Given the description of an element on the screen output the (x, y) to click on. 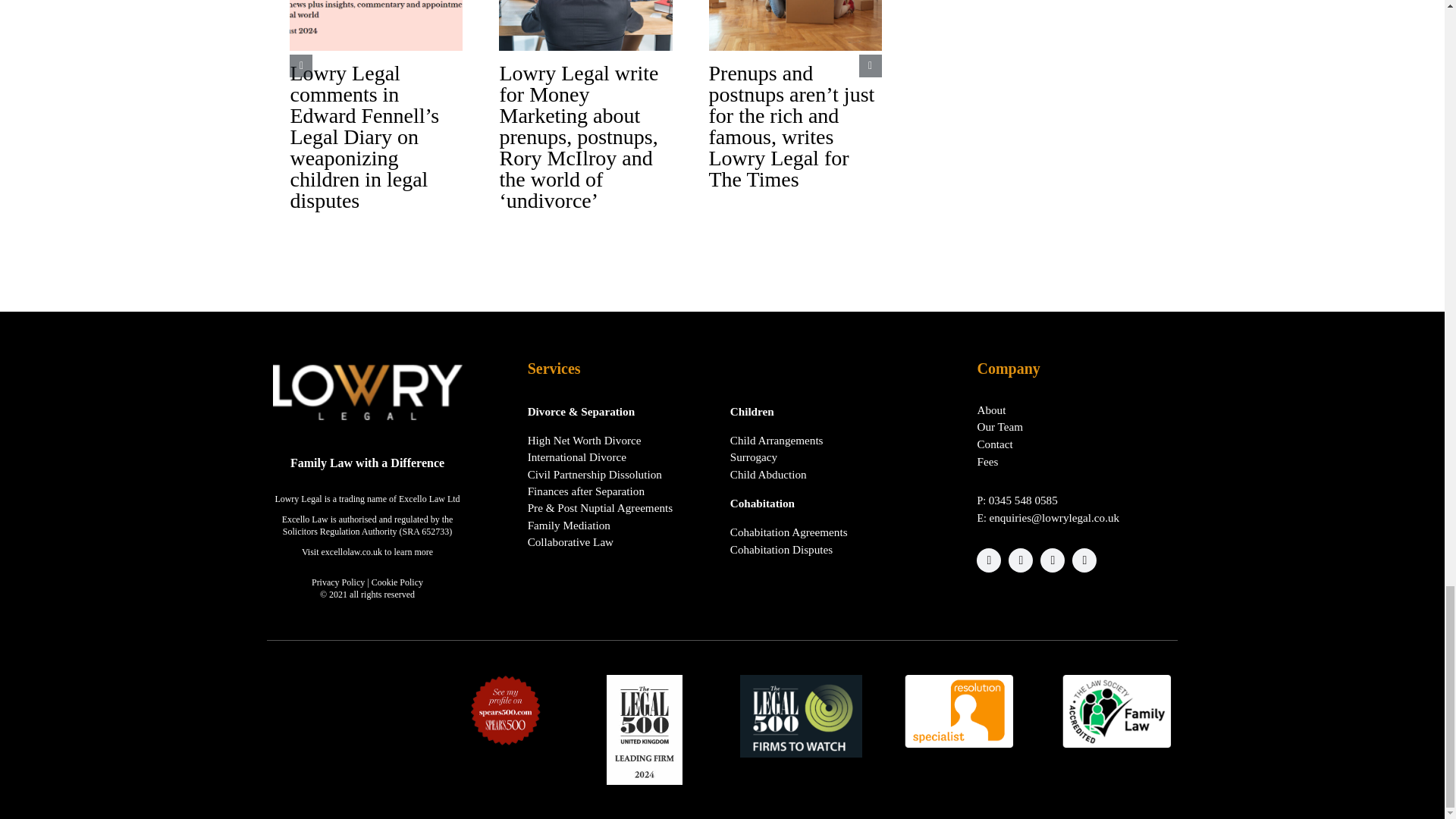
Resolution Specialist (958, 710)
LinkedIn (1083, 559)
X (1020, 559)
Law Society Family Law Accredited (1115, 710)
Instagram (1052, 559)
Facebook (988, 559)
ftw-logo (800, 715)
